Given the description of an element on the screen output the (x, y) to click on. 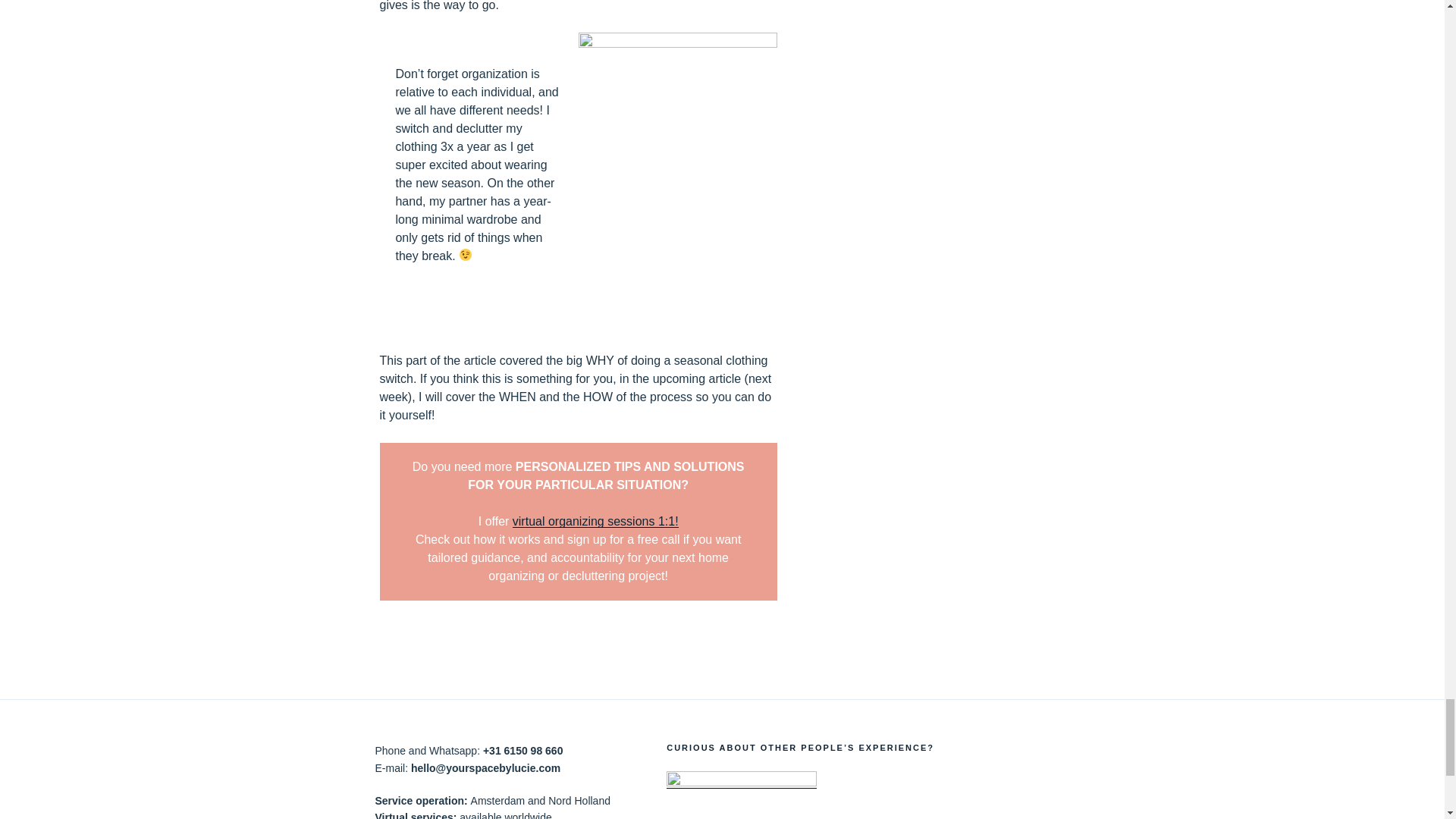
virtual organizing sessions 1:1! (595, 521)
